Given the description of an element on the screen output the (x, y) to click on. 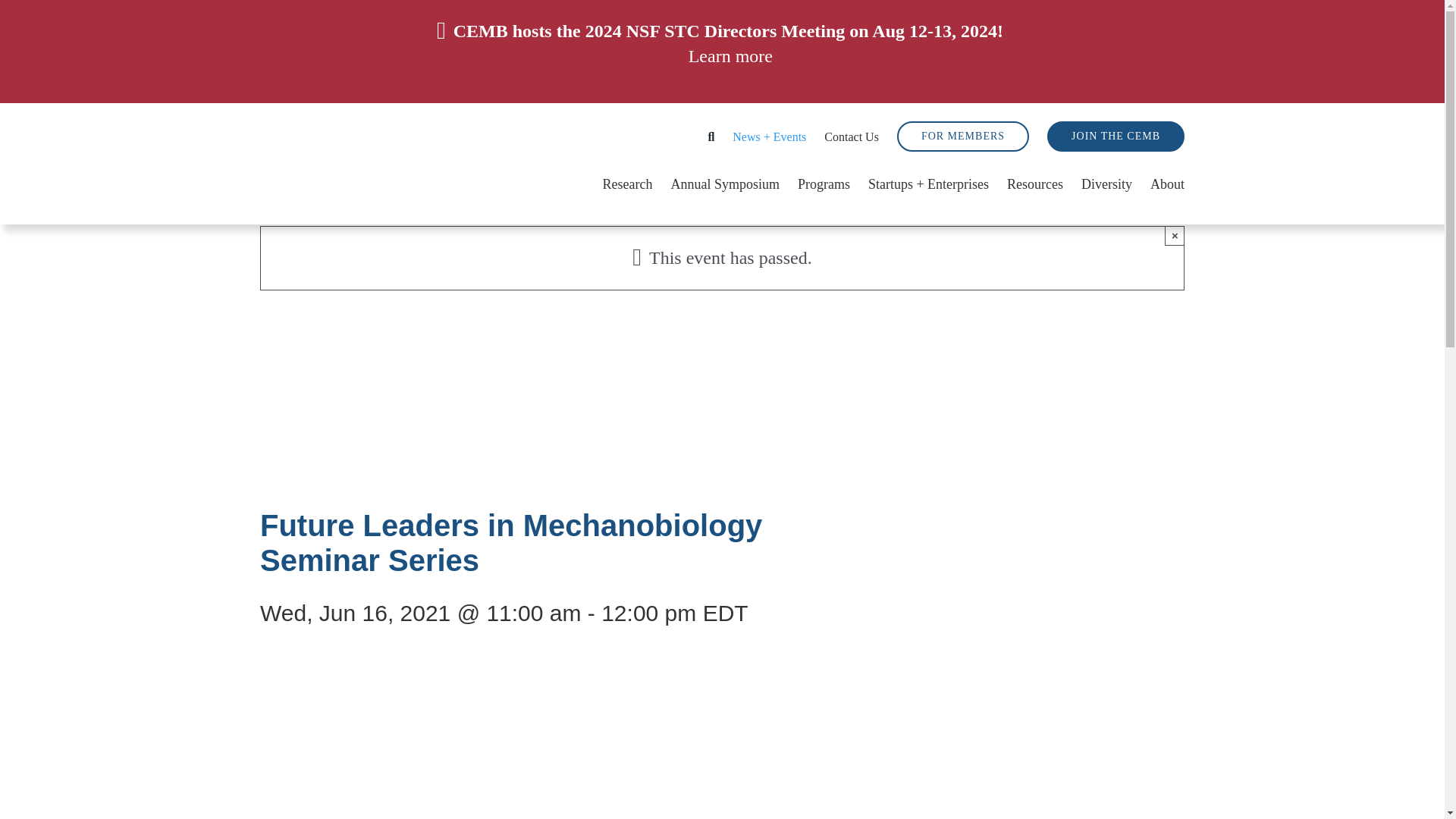
Resources (1034, 178)
Programs (823, 178)
Learn more (730, 55)
Contact Us (851, 136)
FOR MEMBERS (962, 136)
Research (627, 178)
JOIN THE CEMB (1115, 136)
Annual Symposium (723, 178)
